Given the description of an element on the screen output the (x, y) to click on. 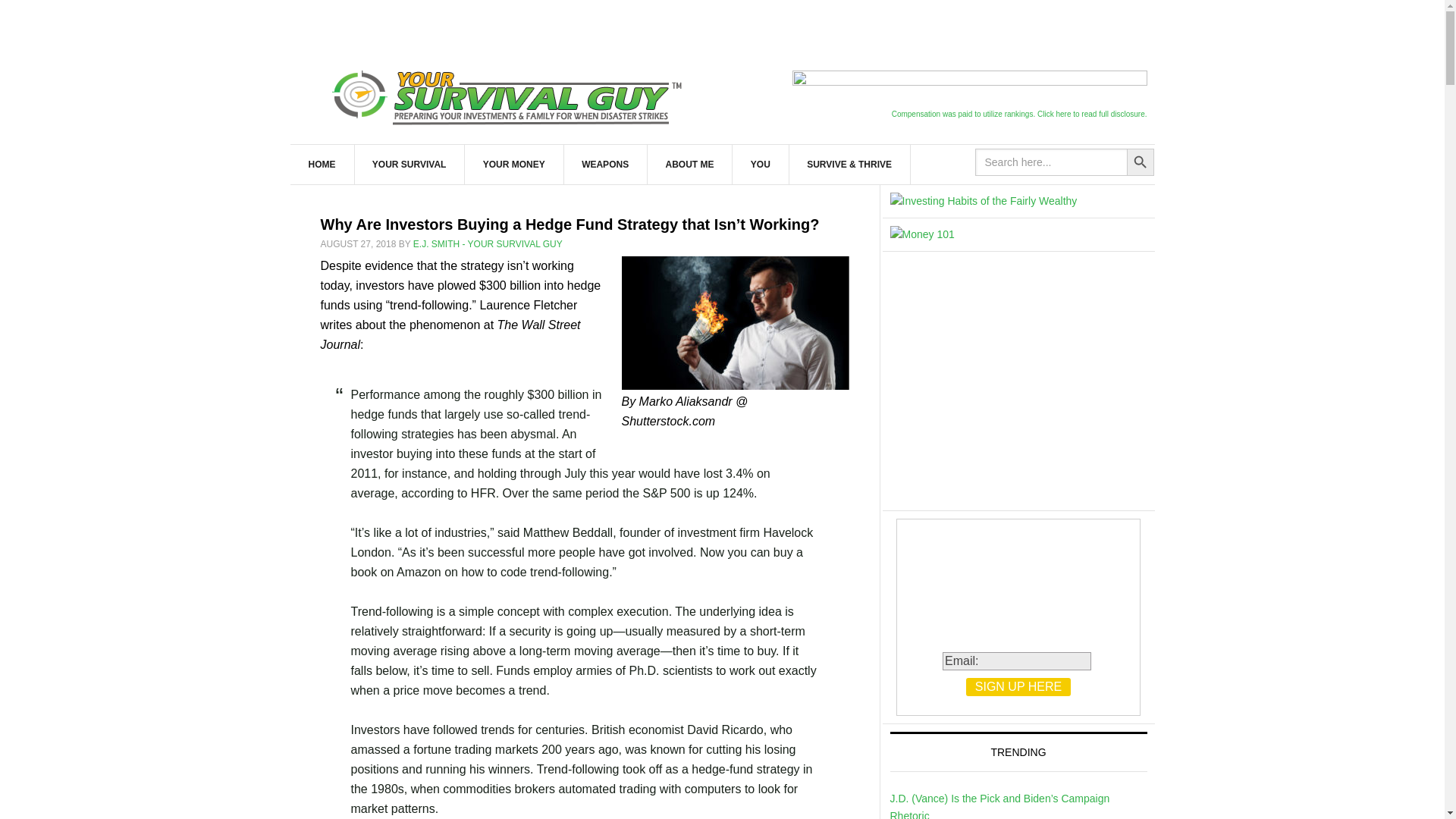
Money 101 (922, 234)
WEAPONS (605, 164)
YOUR SURVIVAL (409, 164)
Email: (1016, 660)
Sign Up Here (1018, 687)
HOME (321, 164)
Top 10 Investing Mistakes to Avoid (1014, 384)
Money 101 (983, 200)
YOUR MONEY (514, 164)
YOUR SURVIVAL GUY (509, 94)
